Given the description of an element on the screen output the (x, y) to click on. 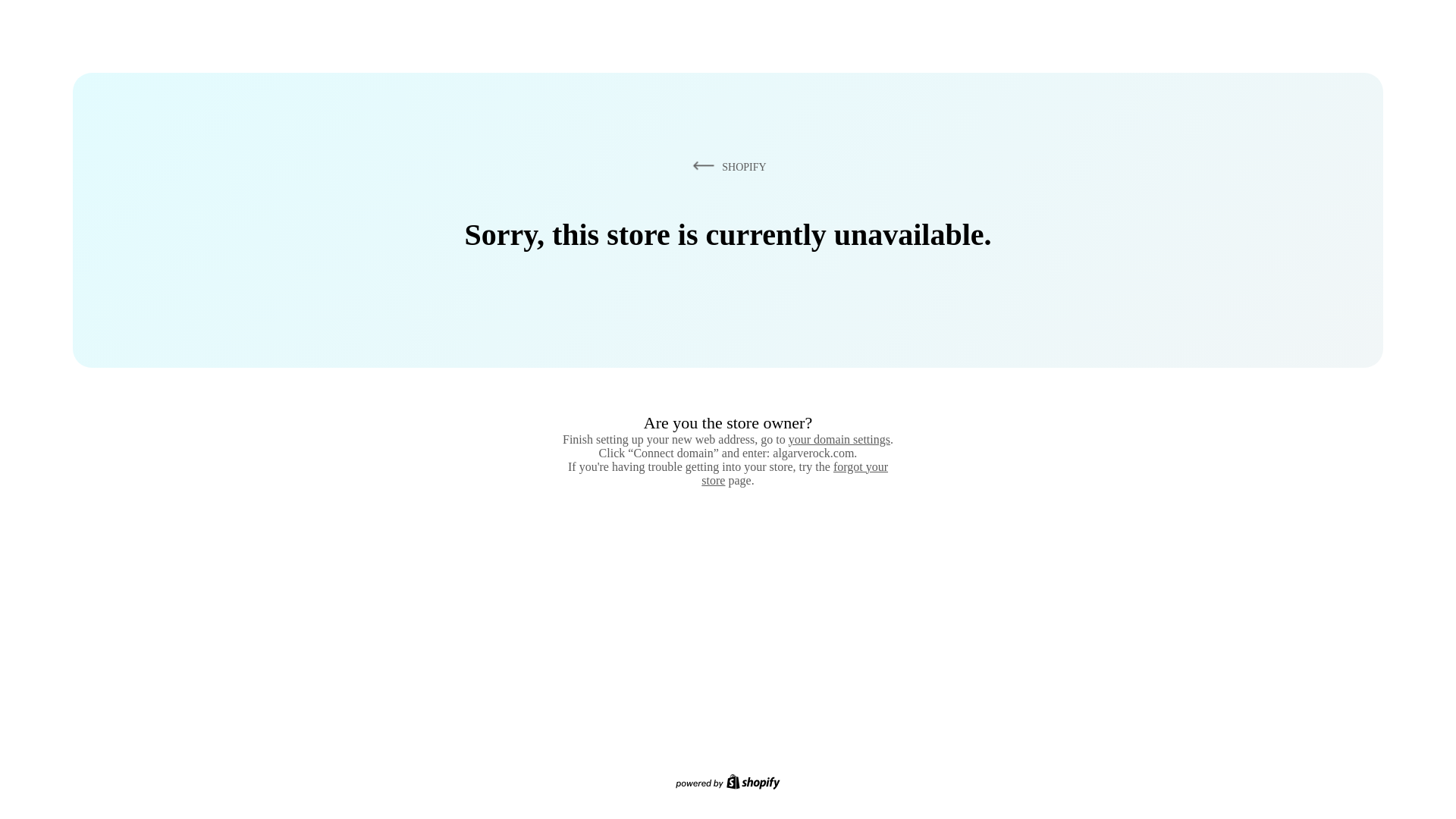
forgot your store (794, 473)
your domain settings (839, 439)
SHOPIFY (726, 166)
